Given the description of an element on the screen output the (x, y) to click on. 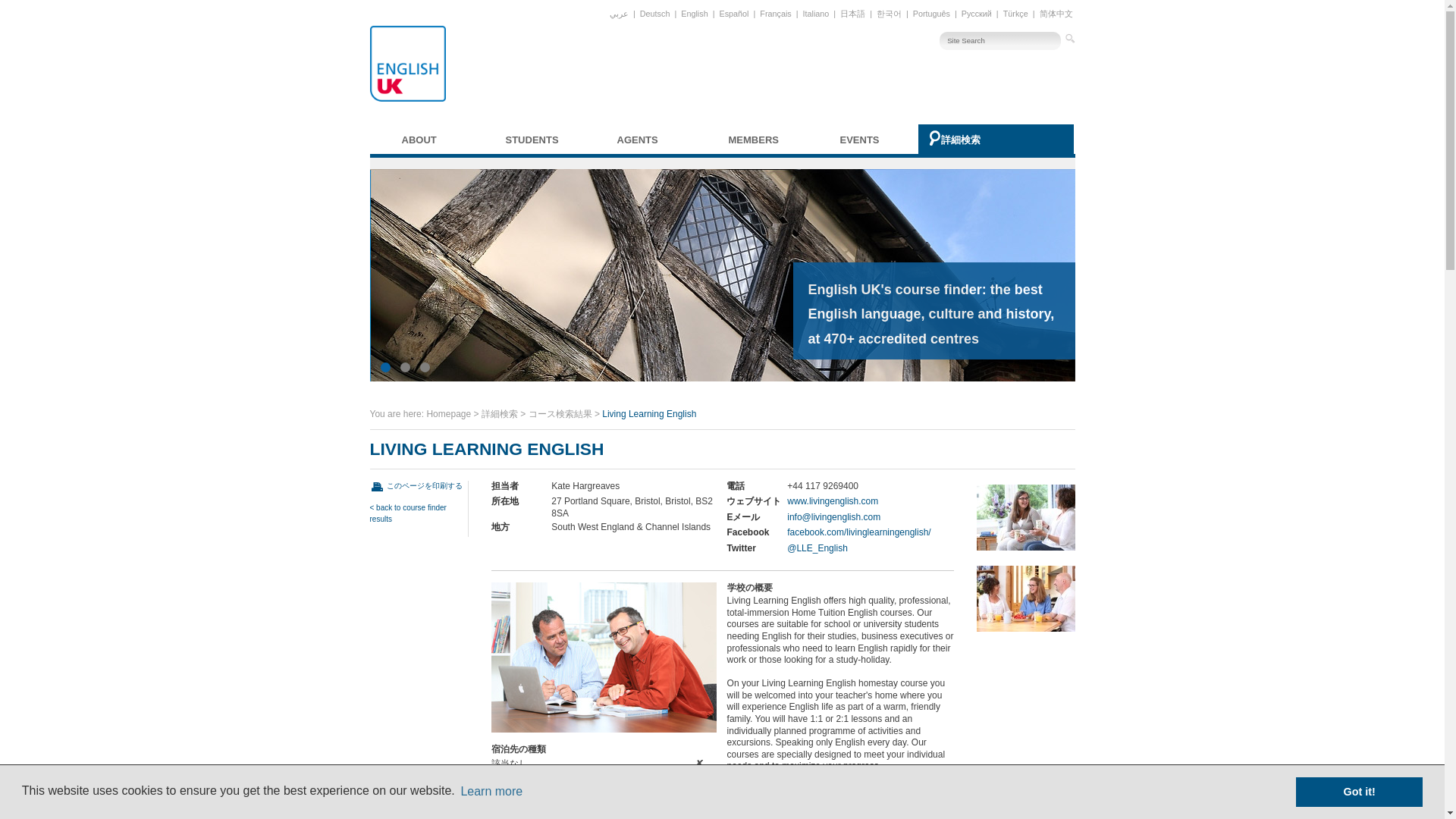
ABOUT (436, 139)
Got it! (1358, 791)
Site Search (1000, 40)
Deutsch (654, 13)
Italiano (815, 13)
Site Search (1000, 40)
English (694, 13)
Learn more (491, 791)
